Given the description of an element on the screen output the (x, y) to click on. 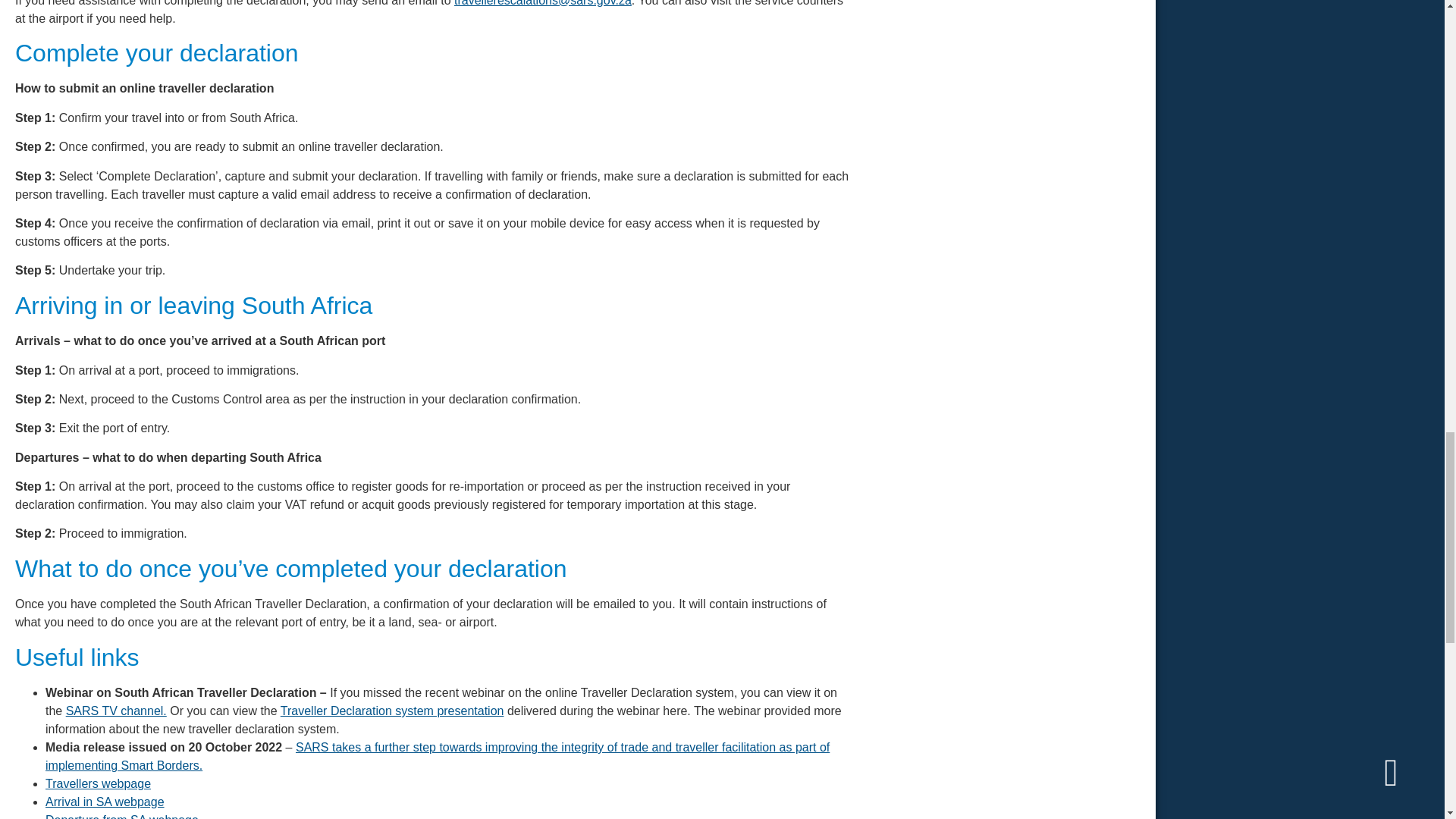
Arrival in SA webpage (104, 801)
Travellers webpage (98, 783)
Traveller Declaration system presentation (392, 710)
SARS TV channel. (116, 710)
Departure from SA webpage (121, 816)
